Given the description of an element on the screen output the (x, y) to click on. 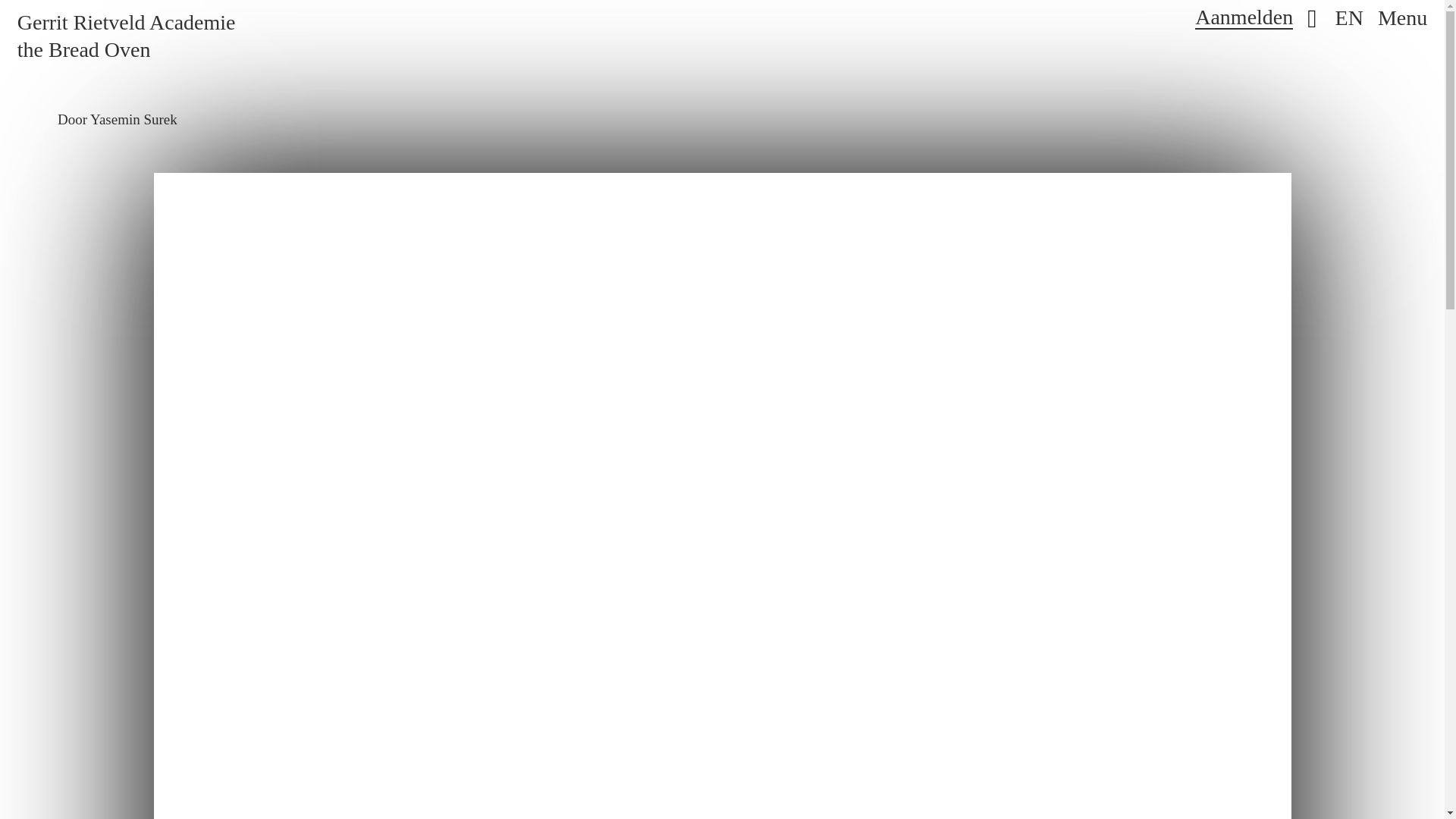
Aanmelden (1243, 17)
EN (1348, 17)
Gerrit Rietveld Academie (126, 23)
the Bread Oven (84, 50)
Menu (1401, 17)
